Given the description of an element on the screen output the (x, y) to click on. 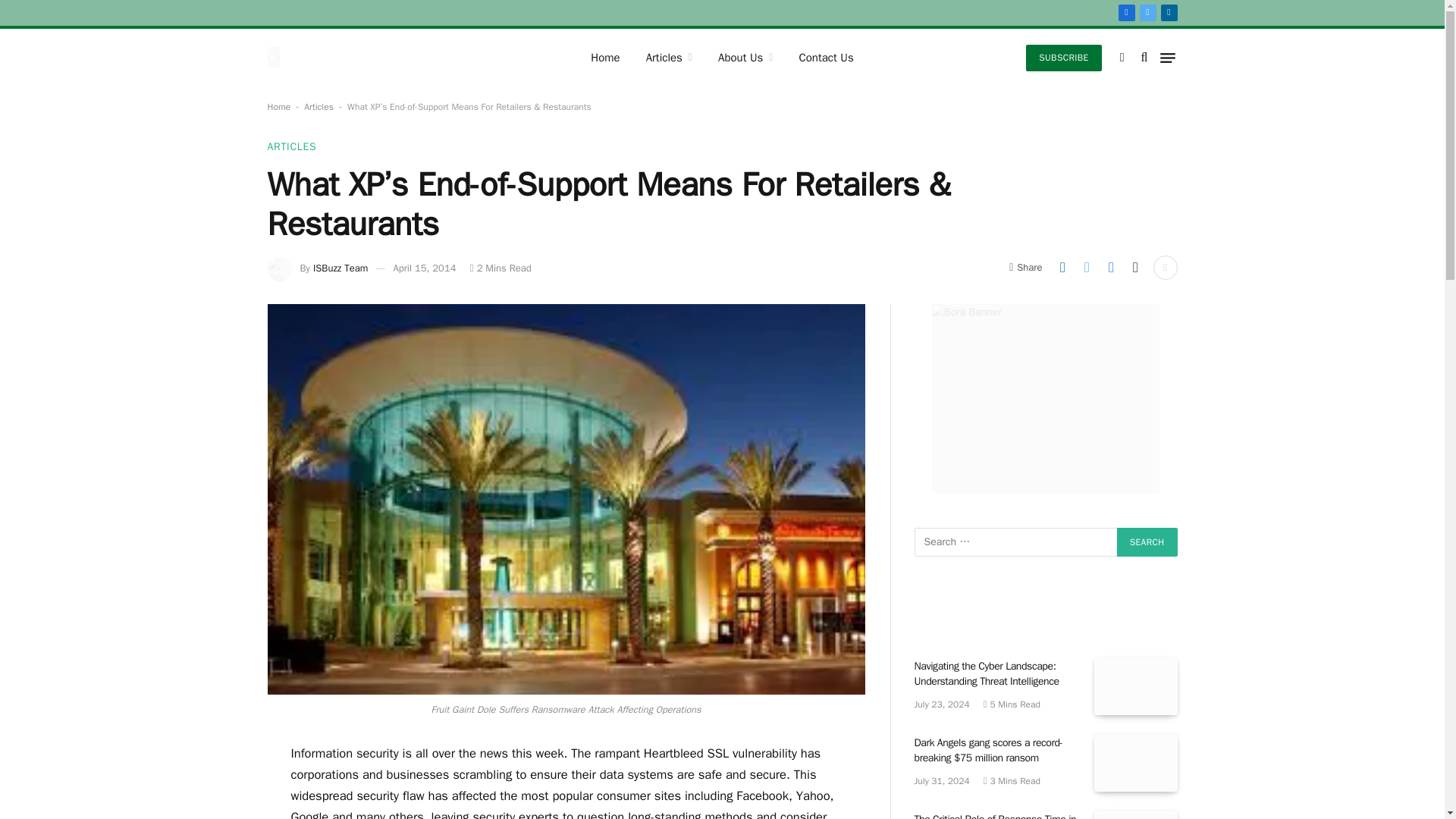
Search (1146, 541)
Share on LinkedIn (1062, 267)
Information Security Buzz (314, 57)
Show More Social Sharing (1164, 267)
Search (1146, 541)
Copy Link (1135, 267)
Posts by ISBuzz Team (340, 267)
Switch to Dark Design - easier on eyes. (1122, 57)
Share on Facebook (1110, 267)
